Given the description of an element on the screen output the (x, y) to click on. 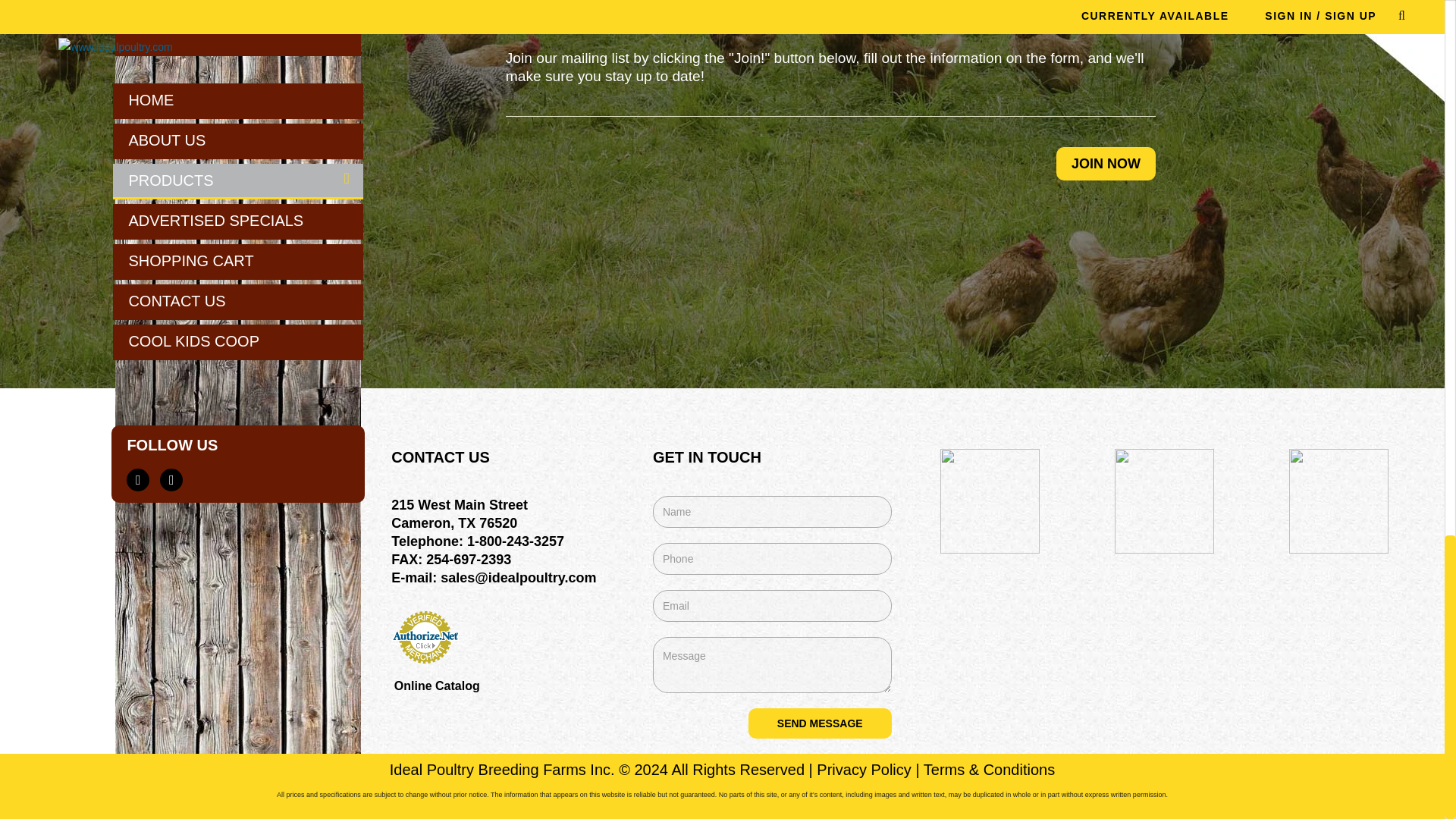
Send Message (819, 723)
